Given the description of an element on the screen output the (x, y) to click on. 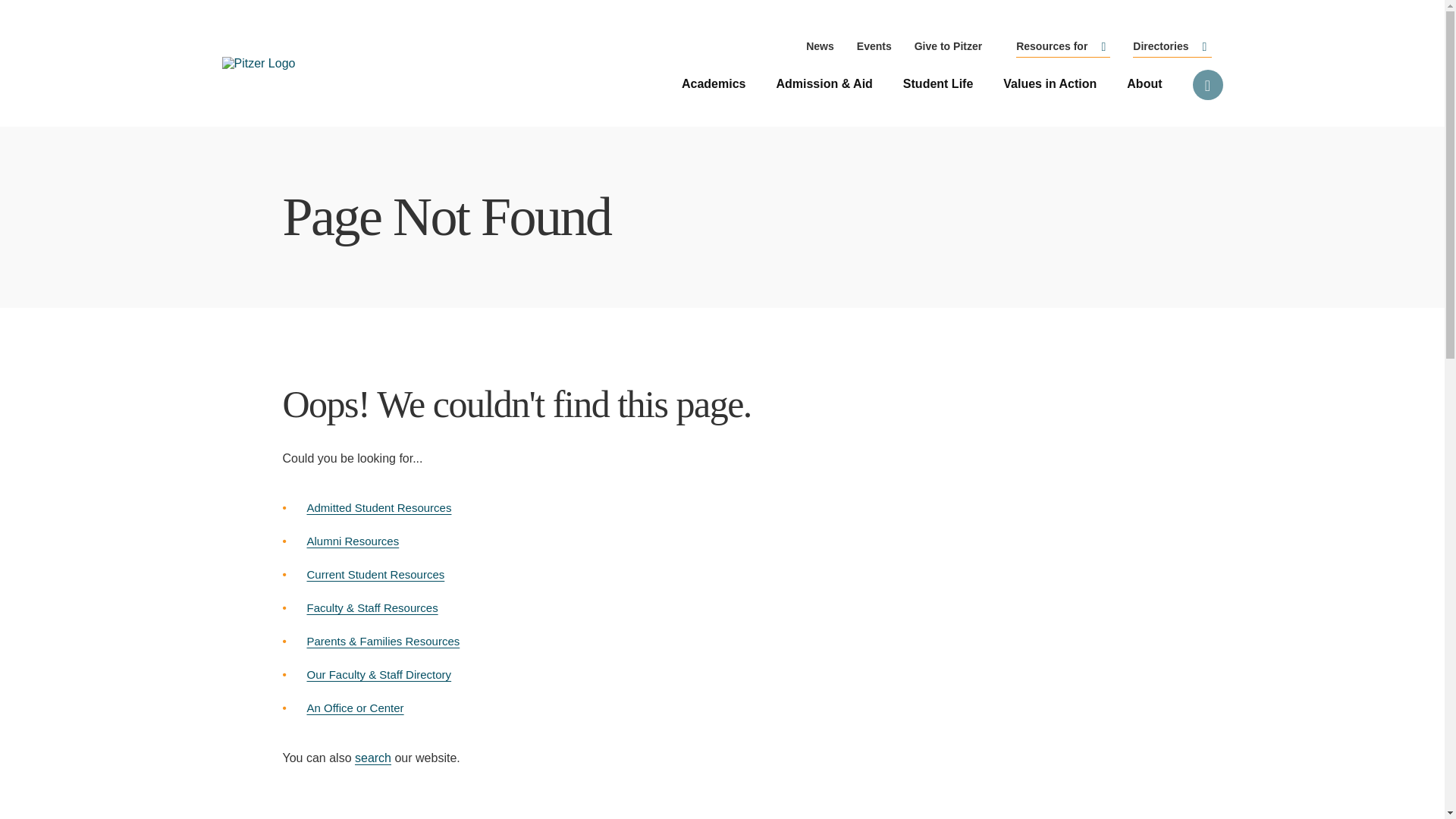
Academics (714, 83)
Student Life (937, 83)
Faculty and Staff (371, 607)
News (820, 46)
Give to Pitzer (947, 46)
Offices (354, 707)
Current Students (374, 574)
Admitted Students (378, 507)
Open the search panel (1207, 84)
